Given the description of an element on the screen output the (x, y) to click on. 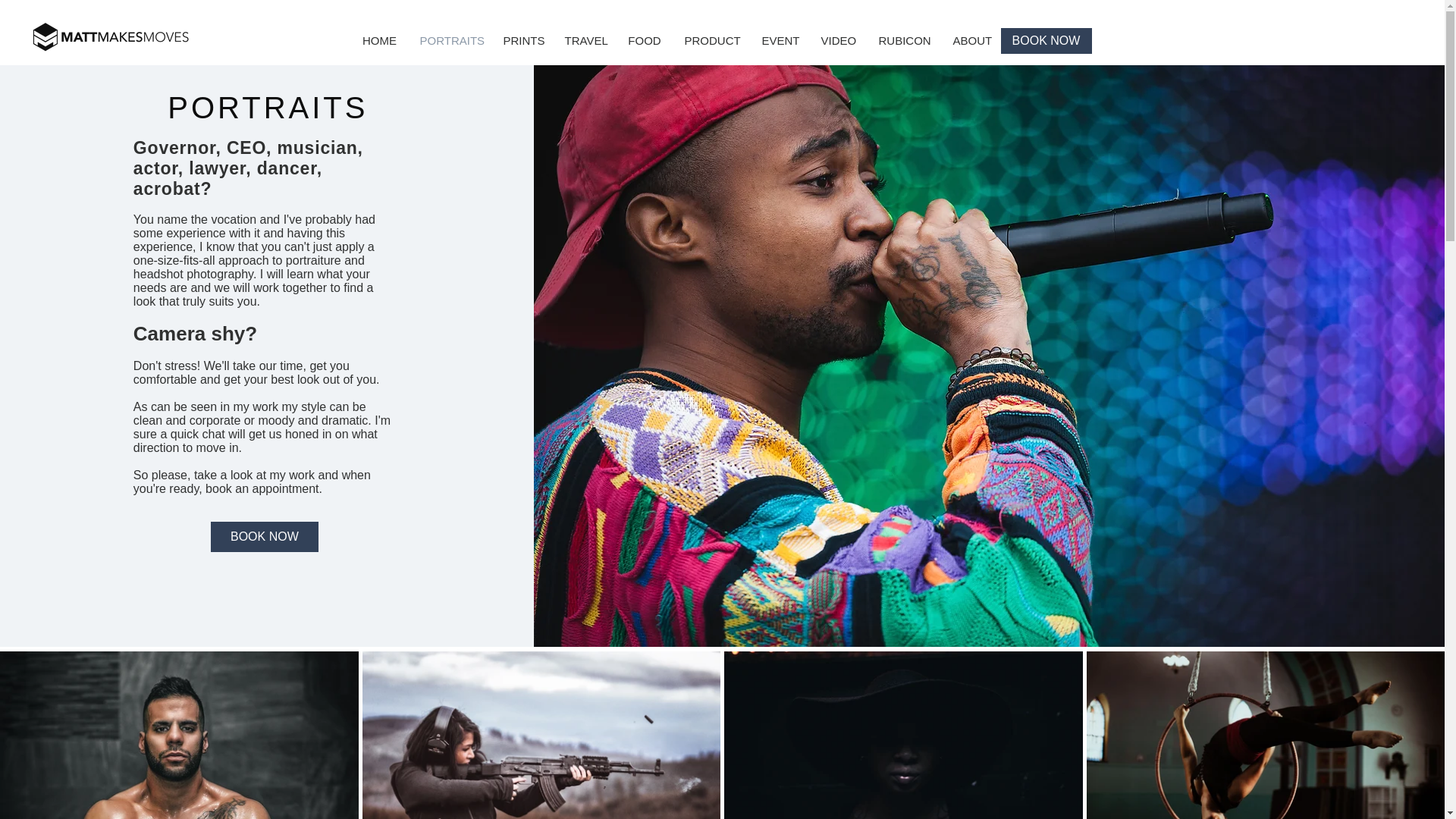
PRINTS (522, 40)
ABOUT (972, 40)
PORTRAITS (449, 40)
PRODUCT (711, 40)
TRAVEL (584, 40)
BOOK NOW (1046, 40)
FOOD (643, 40)
HOME (378, 40)
EVENT (780, 40)
RUBICON (904, 40)
BOOK NOW (264, 536)
VIDEO (838, 40)
